Given the description of an element on the screen output the (x, y) to click on. 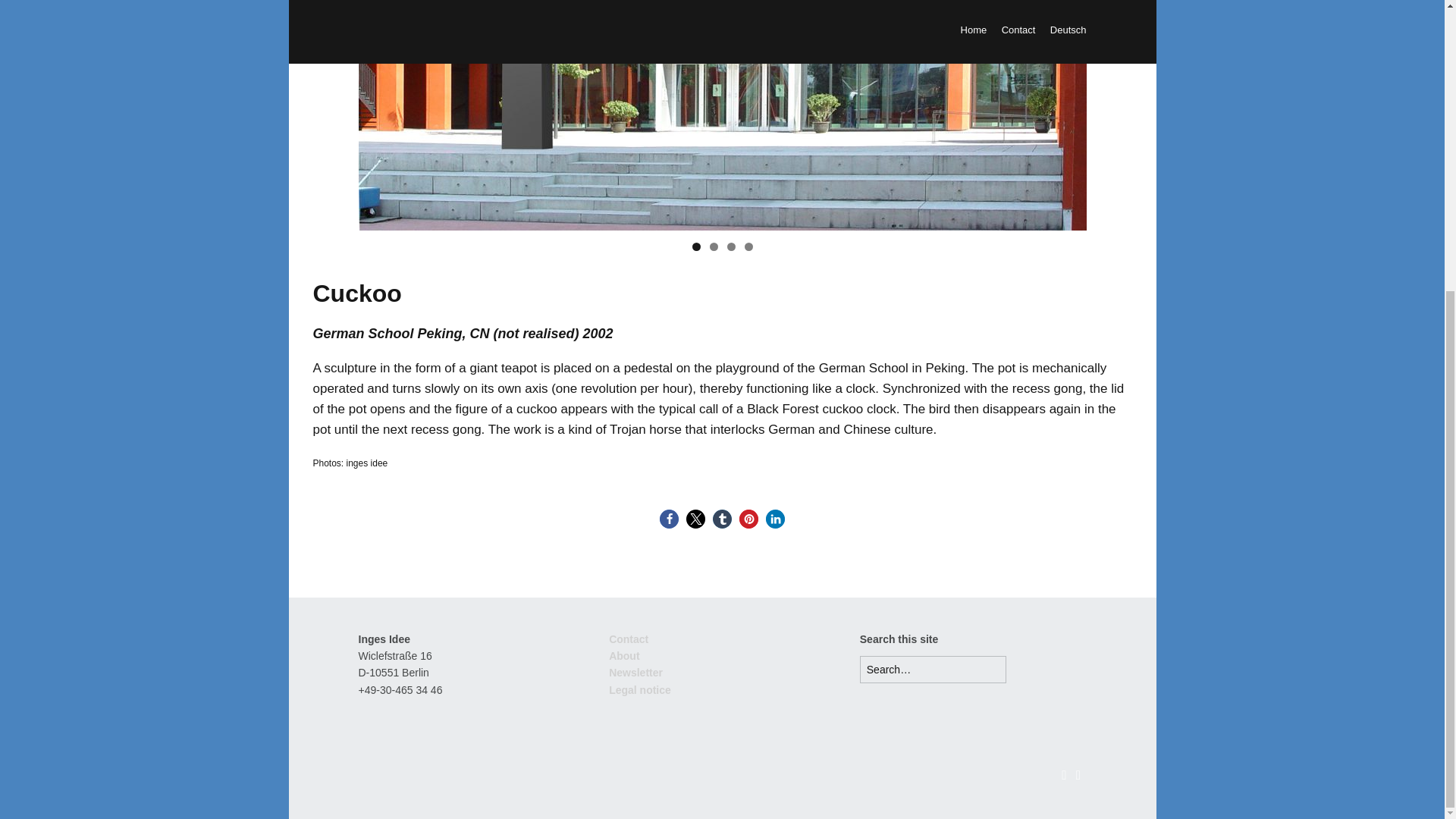
1 (695, 246)
Pin it on Pinterest (748, 518)
Press Enter to submit your search (933, 669)
3 (730, 246)
Share on X (694, 518)
4 (748, 246)
Legal notice (639, 689)
Newsletter (635, 672)
